Given the description of an element on the screen output the (x, y) to click on. 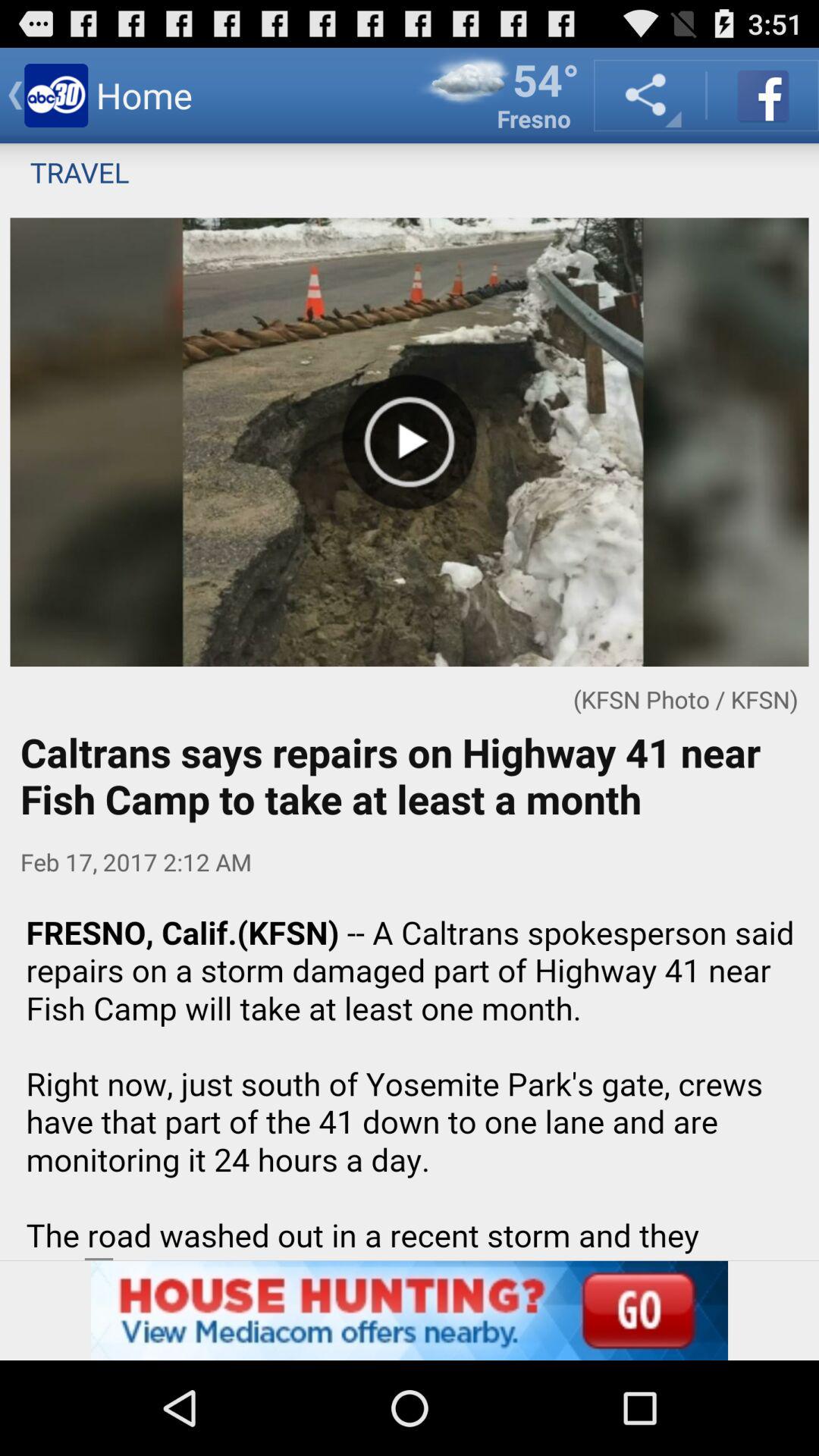
advertisement (409, 1310)
